Given the description of an element on the screen output the (x, y) to click on. 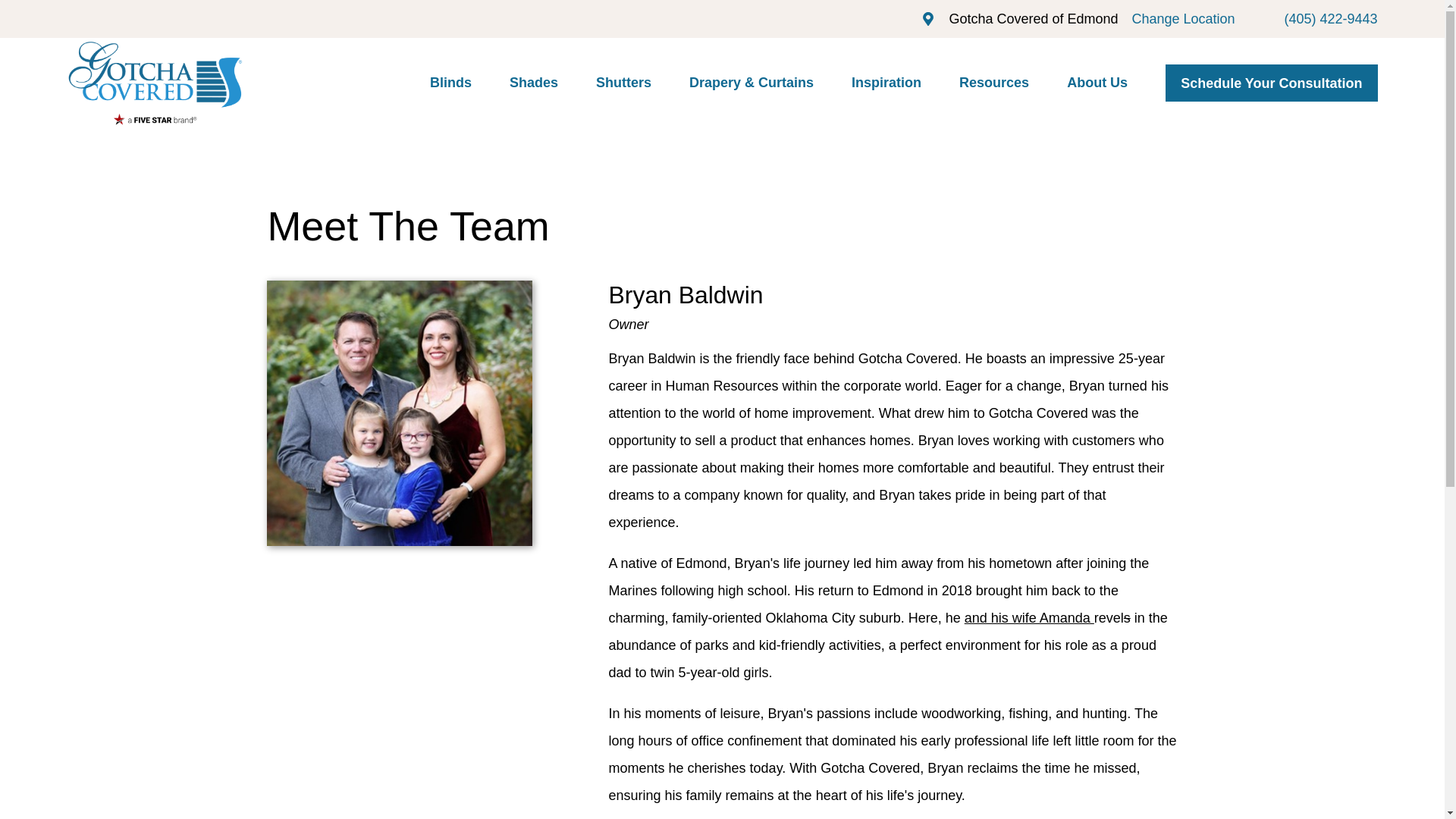
Shutters (622, 82)
Home (153, 82)
Shades (533, 82)
Change Location (1183, 18)
